Given the description of an element on the screen output the (x, y) to click on. 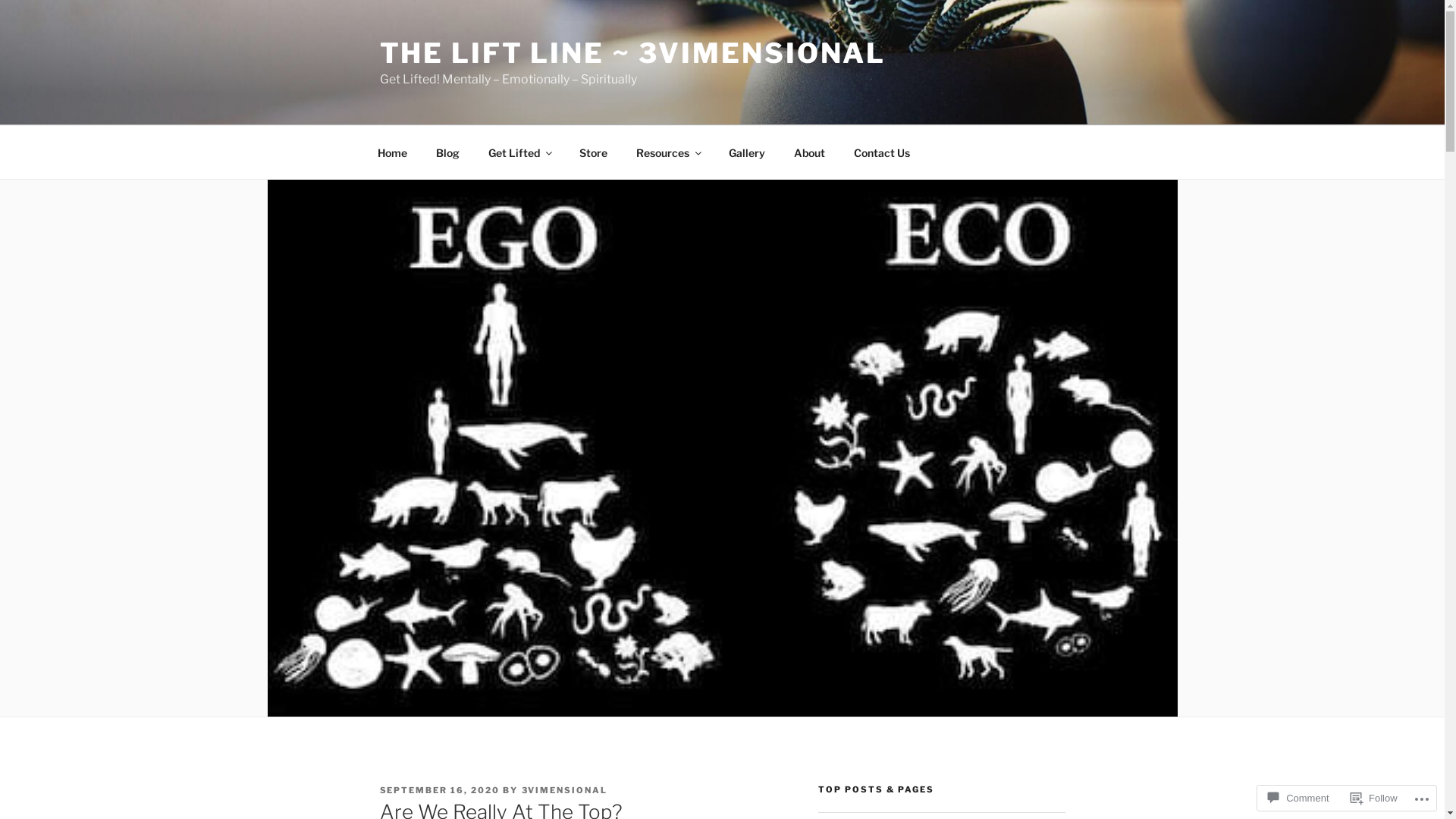
Follow Element type: text (1373, 797)
Contact Us Element type: text (881, 151)
Resources Element type: text (668, 151)
Home Element type: text (392, 151)
Store Element type: text (592, 151)
Comment Element type: text (1297, 797)
SEPTEMBER 16, 2020 Element type: text (439, 789)
About Element type: text (809, 151)
Blog Element type: text (448, 151)
3VIMENSIONAL Element type: text (564, 789)
THE LIFT LINE ~ 3VIMENSIONAL Element type: text (632, 52)
Gallery Element type: text (746, 151)
Get Lifted Element type: text (518, 151)
